Given the description of an element on the screen output the (x, y) to click on. 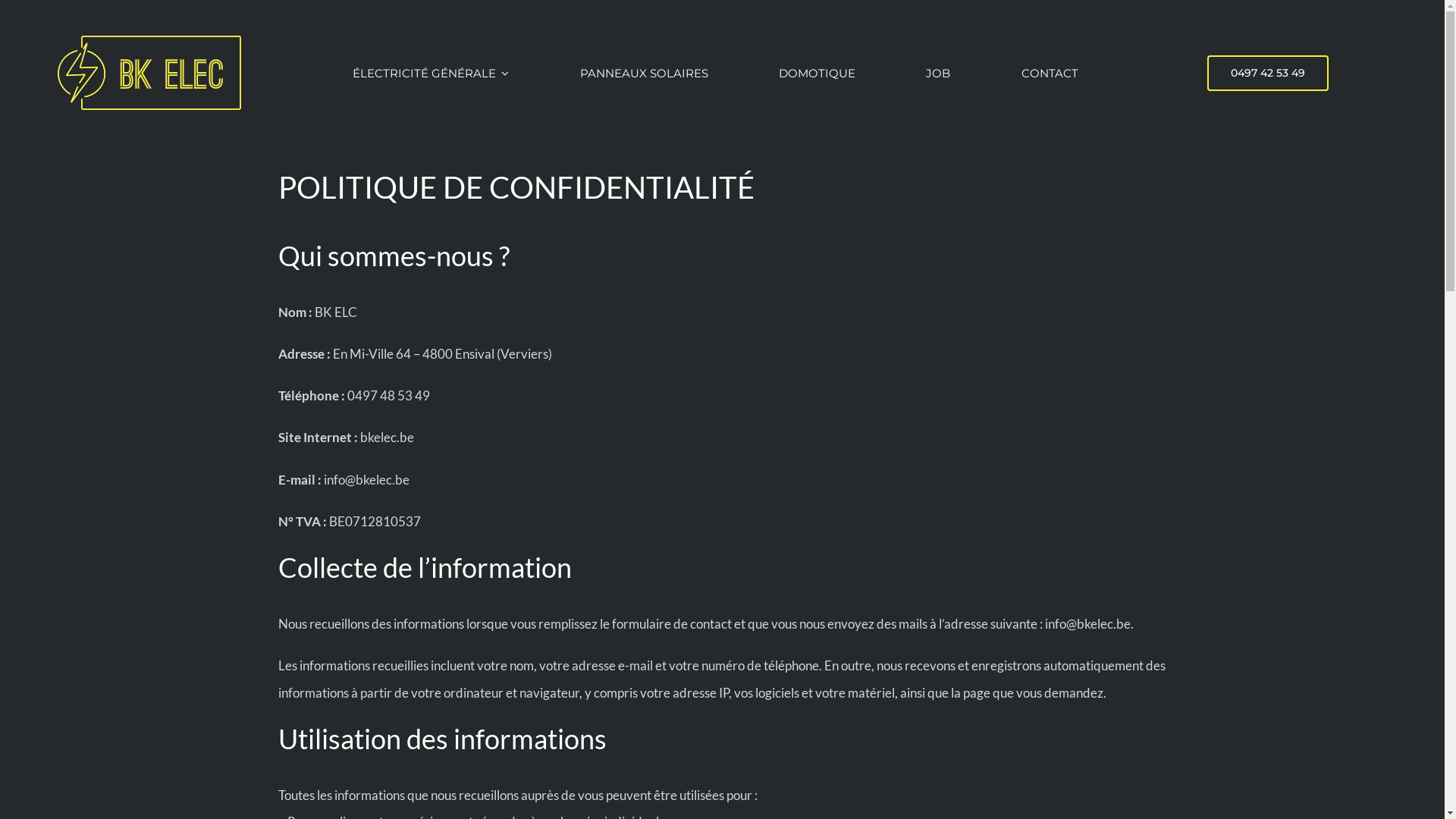
CONTACT Element type: text (1049, 72)
PANNEAUX SOLAIRES Element type: text (644, 72)
0497 42 53 49 Element type: text (1267, 73)
DOMOTIQUE Element type: text (816, 72)
JOB Element type: text (937, 72)
